Given the description of an element on the screen output the (x, y) to click on. 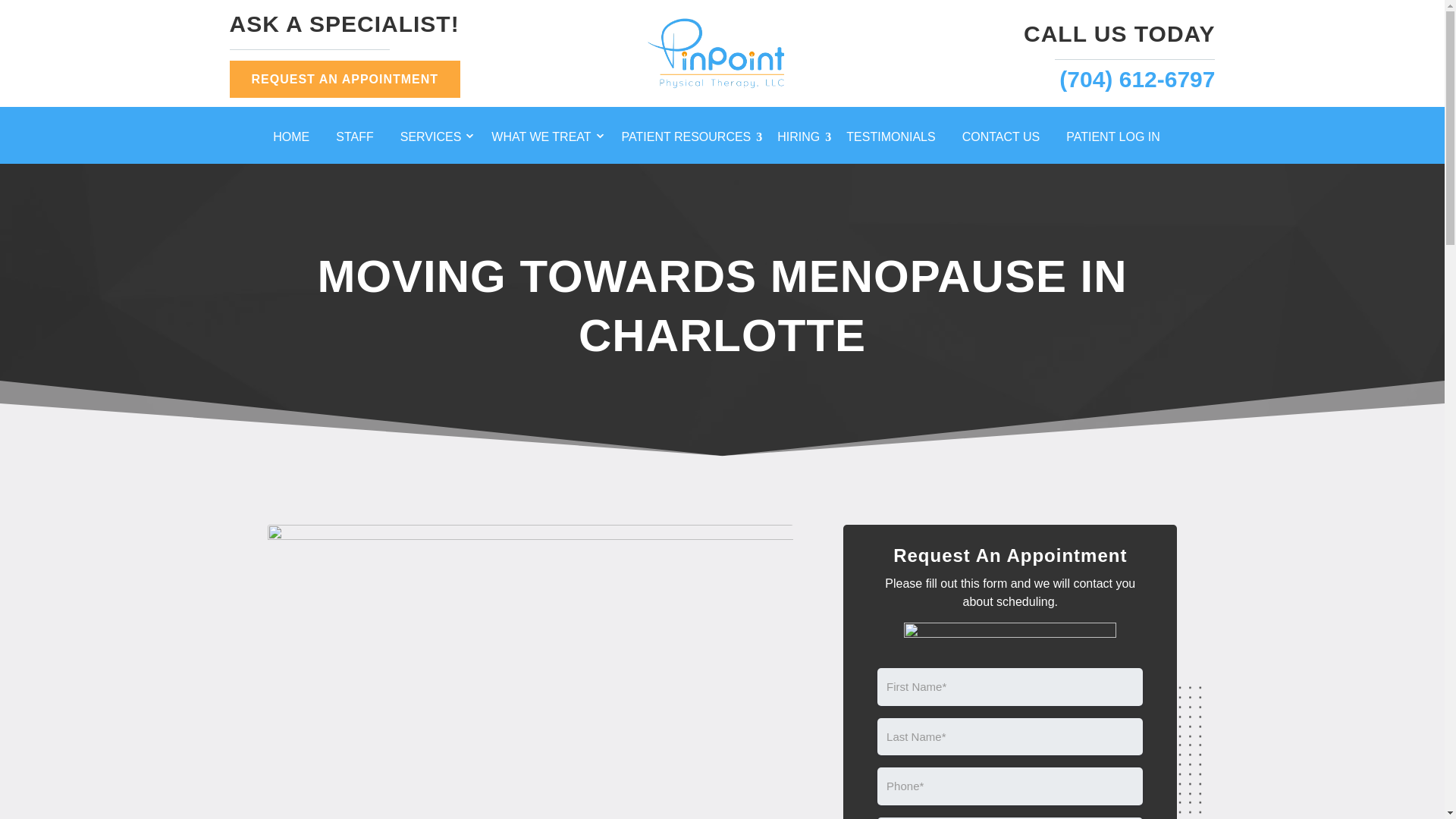
SERVICES (438, 139)
PATIENT RESOURCES (691, 139)
HIRING (804, 139)
REQUEST AN APPOINTMENT (344, 78)
STAFF (360, 139)
PATIENT LOG IN (1118, 139)
15388 Rehab CEOs Logo -01 (721, 52)
WHAT WE TREAT (548, 139)
HOME (296, 139)
CONTACT US (1006, 139)
TESTIMONIALS (895, 139)
